Given the description of an element on the screen output the (x, y) to click on. 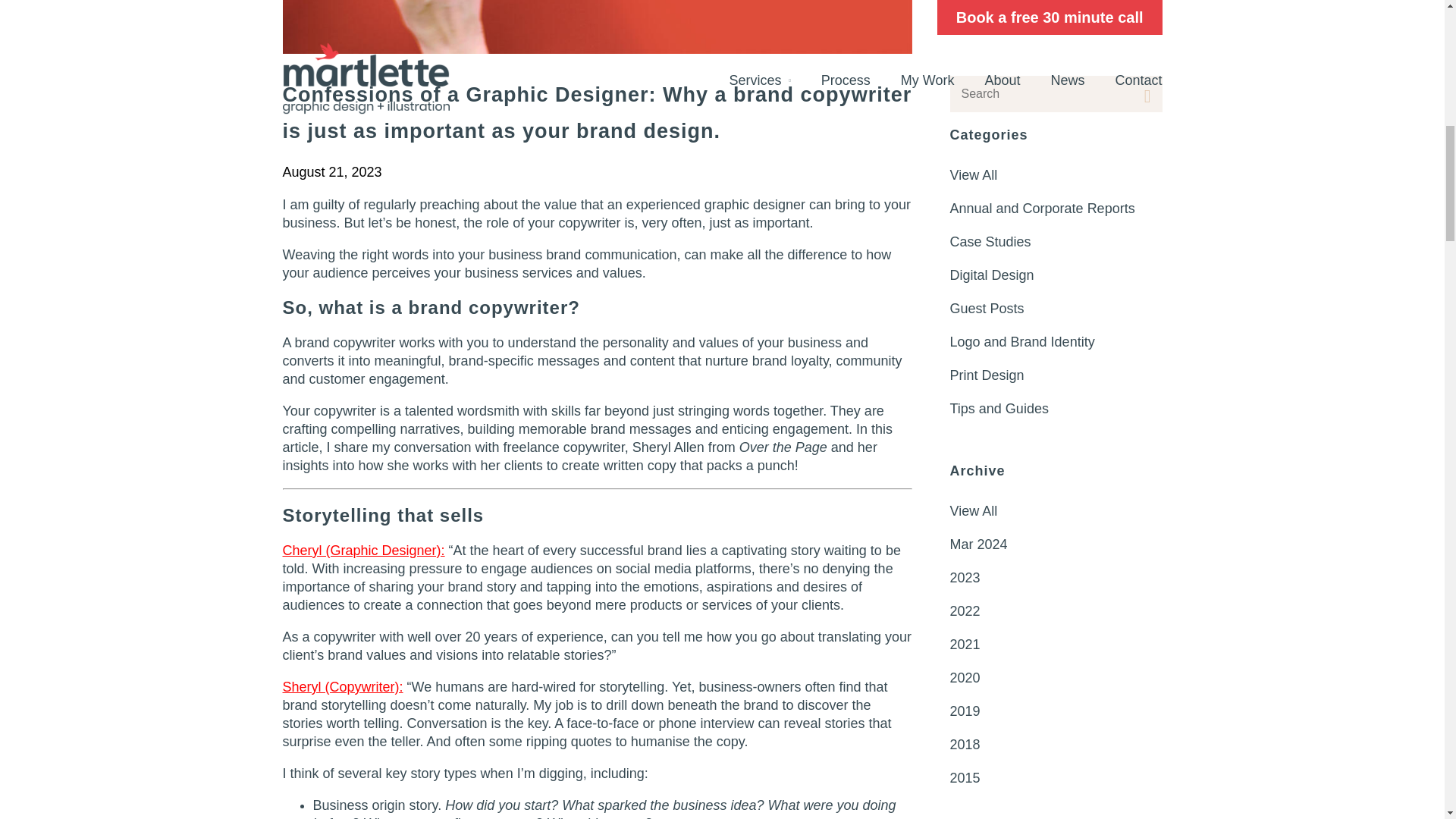
2020 (1055, 26)
2015 (1055, 126)
2019 (1055, 59)
2018 (1055, 92)
2021 (1055, 4)
